Given the description of an element on the screen output the (x, y) to click on. 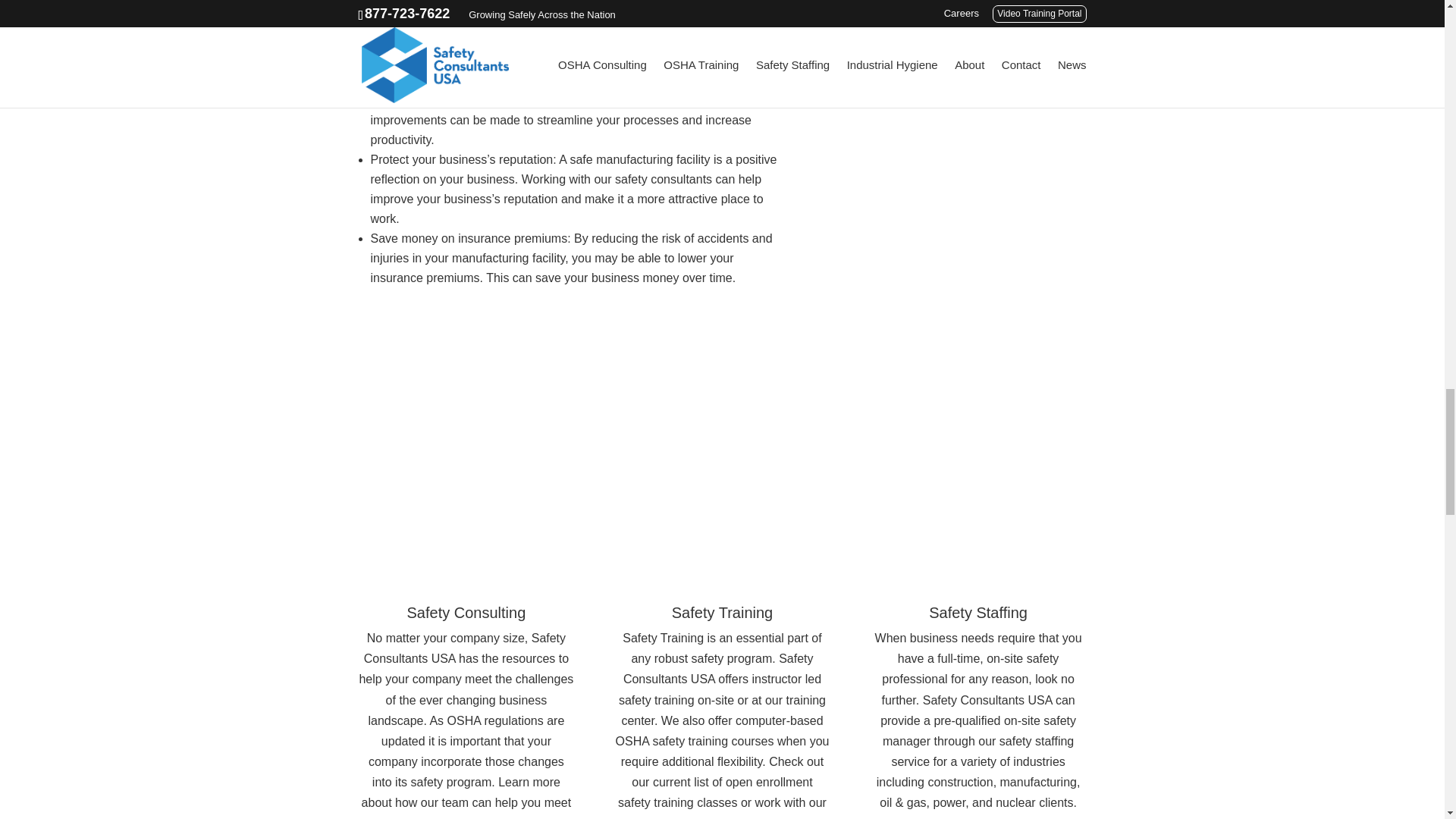
Safety Staffing (977, 612)
Safety Consulting (466, 612)
Safety Training (722, 612)
